Given the description of an element on the screen output the (x, y) to click on. 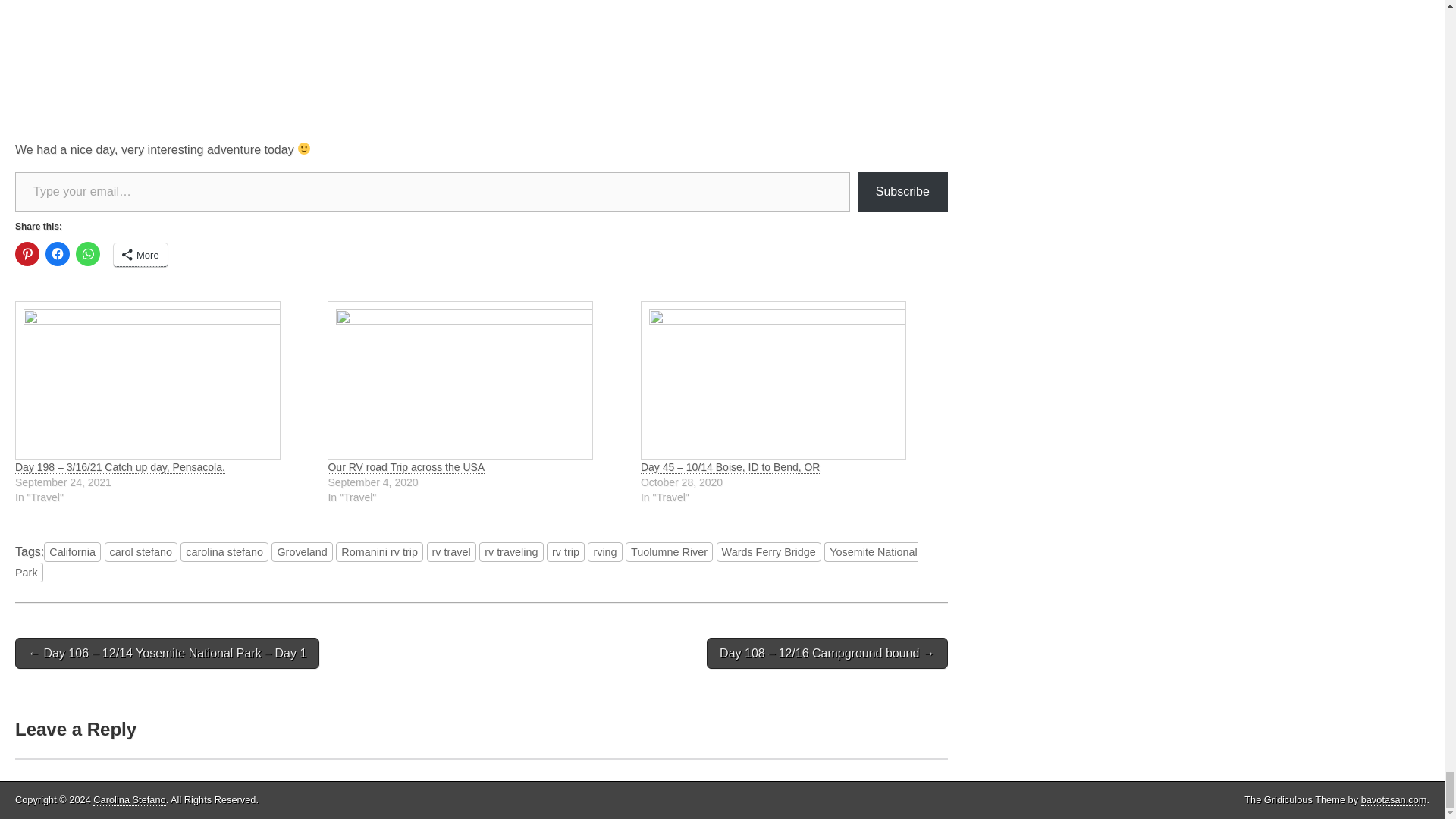
Click to share on Pinterest (26, 253)
carolina stefano (223, 551)
California (71, 551)
Groveland (300, 551)
carol stefano (140, 551)
rv travel (451, 551)
Romanini rv trip (379, 551)
Our RV road Trip across the USA (475, 380)
More (140, 254)
Click to share on WhatsApp (87, 253)
rv trip (566, 551)
Click to share on Facebook (57, 253)
rving (604, 551)
rv traveling (511, 551)
Subscribe (902, 191)
